Given the description of an element on the screen output the (x, y) to click on. 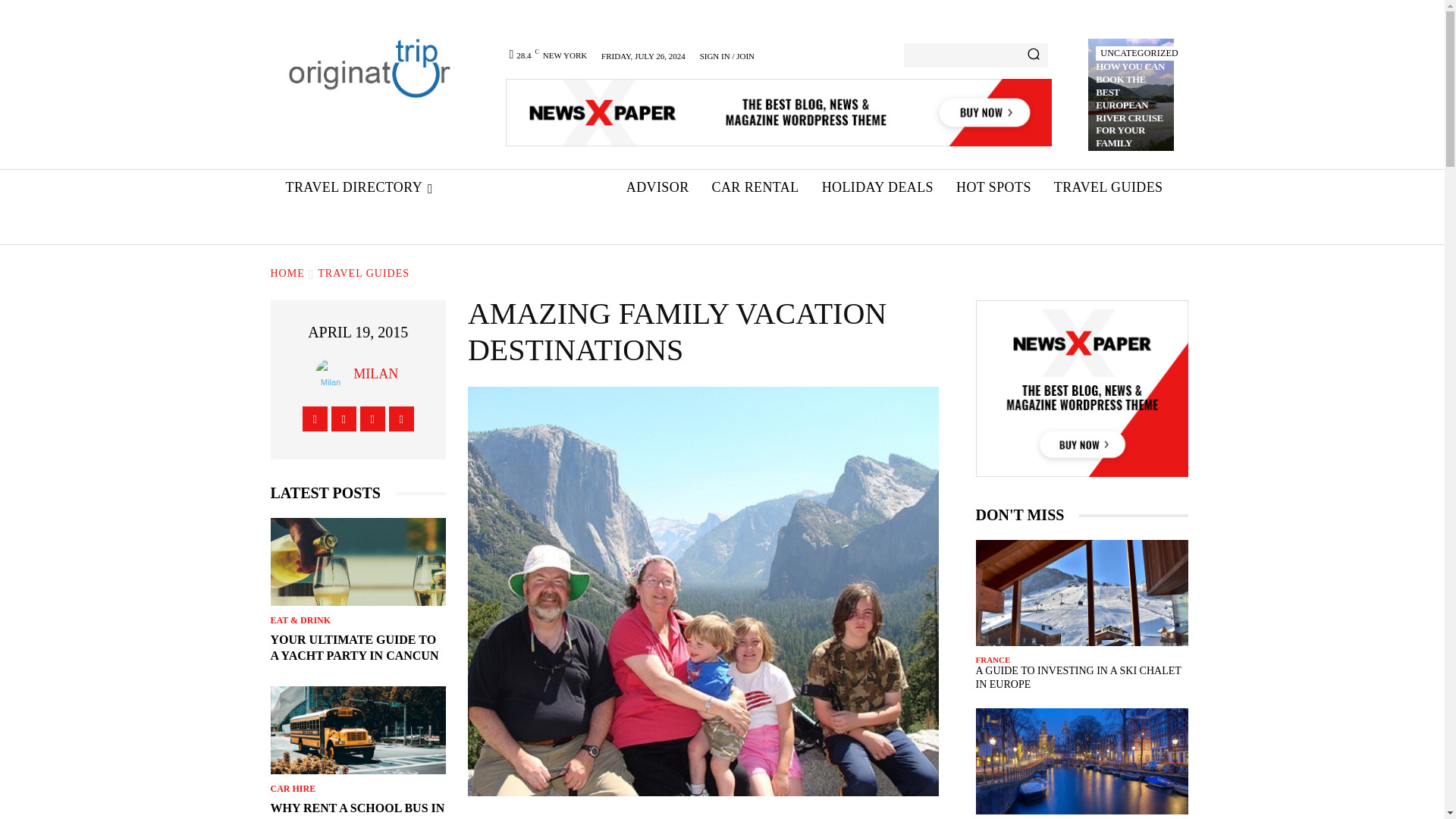
TRAVEL DIRECTORY (358, 188)
UNCATEGORIZED (1139, 52)
